Given the description of an element on the screen output the (x, y) to click on. 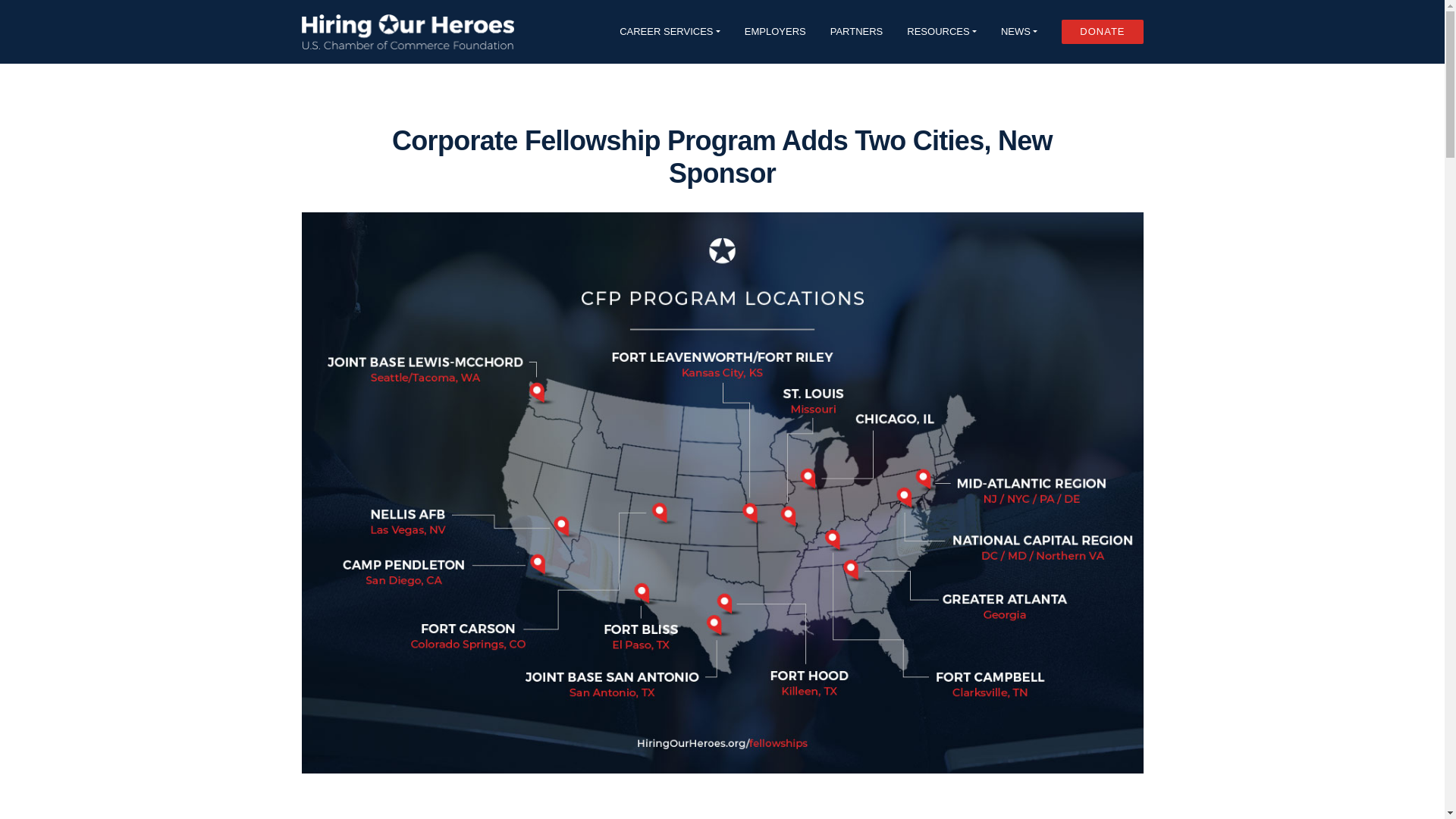
CAREER SERVICES (670, 31)
RESOURCES (941, 31)
PARTNERS (856, 31)
EMPLOYERS (775, 31)
NEWS (1018, 31)
DONATE (1101, 31)
